Given the description of an element on the screen output the (x, y) to click on. 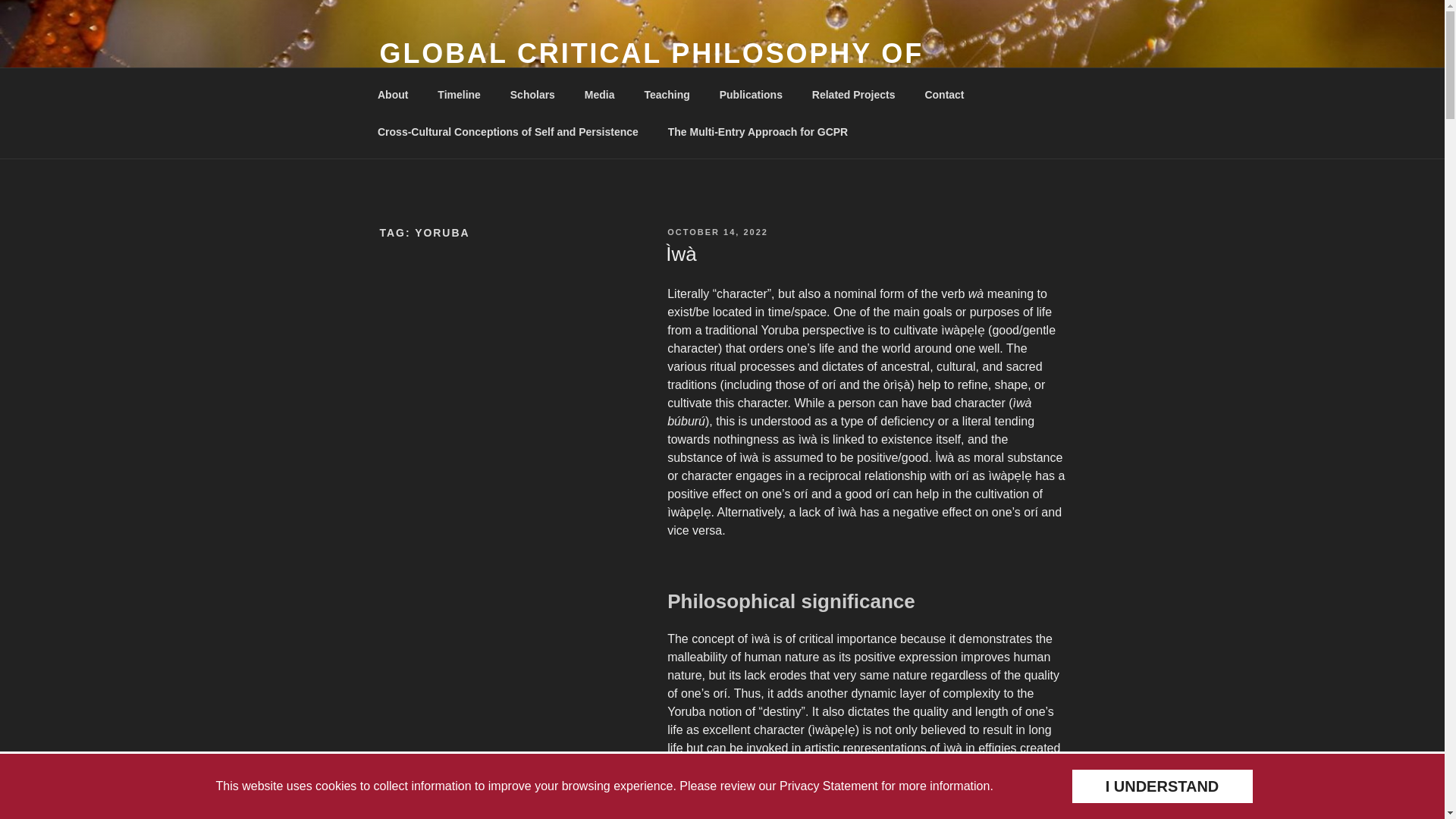
Cross-Cultural Conceptions of Self and Persistence (507, 131)
GLOBAL CRITICAL PHILOSOPHY OF RELIGION (650, 70)
Media (598, 94)
Timeline (460, 94)
Privacy Statement (827, 785)
About (392, 94)
The Multi-Entry Approach for GCPR (756, 131)
Publications (750, 94)
Teaching (666, 94)
Scholars (531, 94)
